Given the description of an element on the screen output the (x, y) to click on. 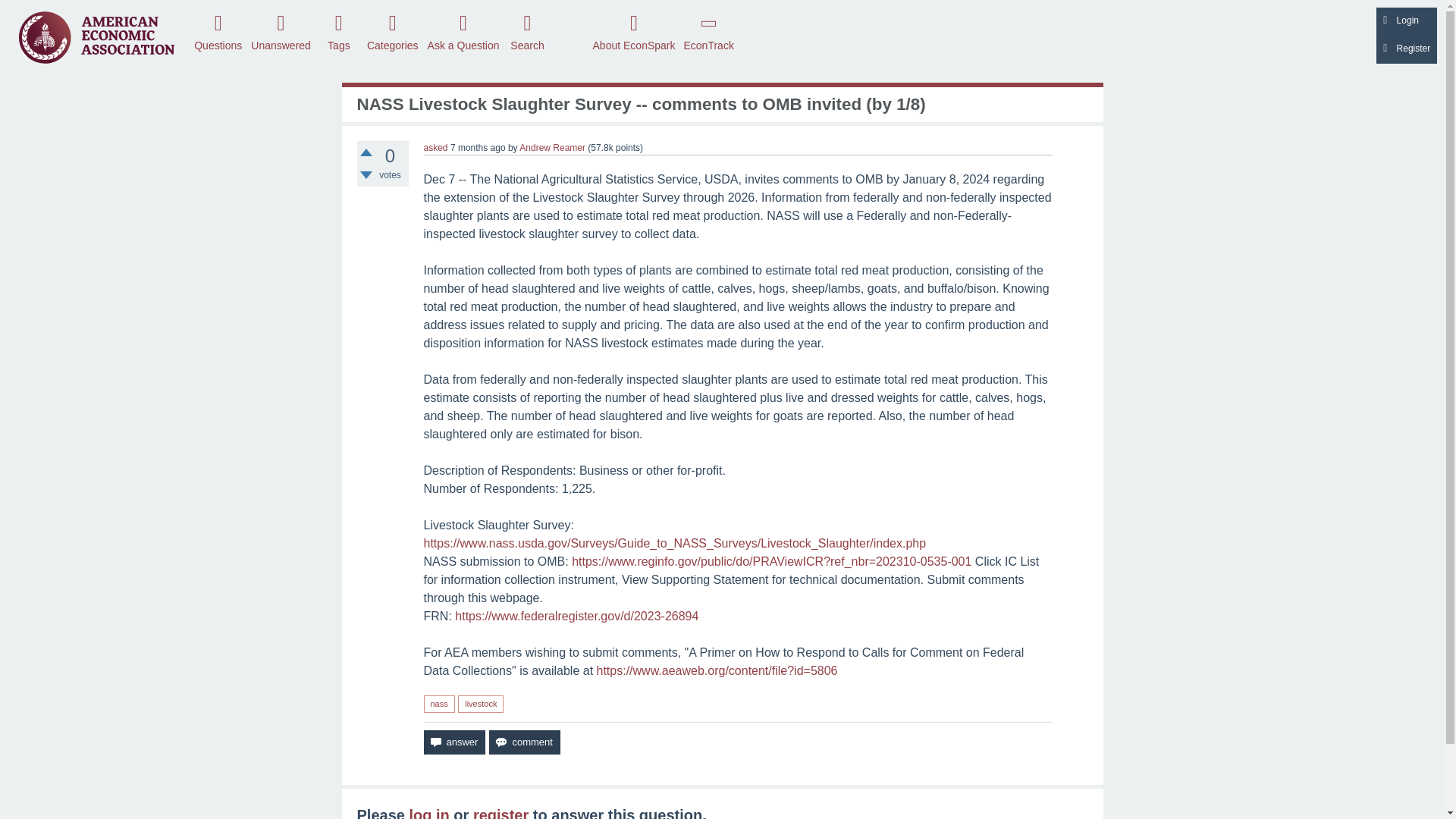
Register (1406, 49)
About EconSpark (634, 31)
Click to vote up (365, 152)
Add a comment on this question (524, 742)
Ask a Question (463, 31)
register (500, 812)
Search (527, 31)
comment (524, 742)
livestock (480, 703)
Answer this question (453, 742)
Andrew Reamer (552, 147)
Categories (392, 31)
Economics Forum (96, 37)
comment (524, 742)
answer (453, 742)
